Given the description of an element on the screen output the (x, y) to click on. 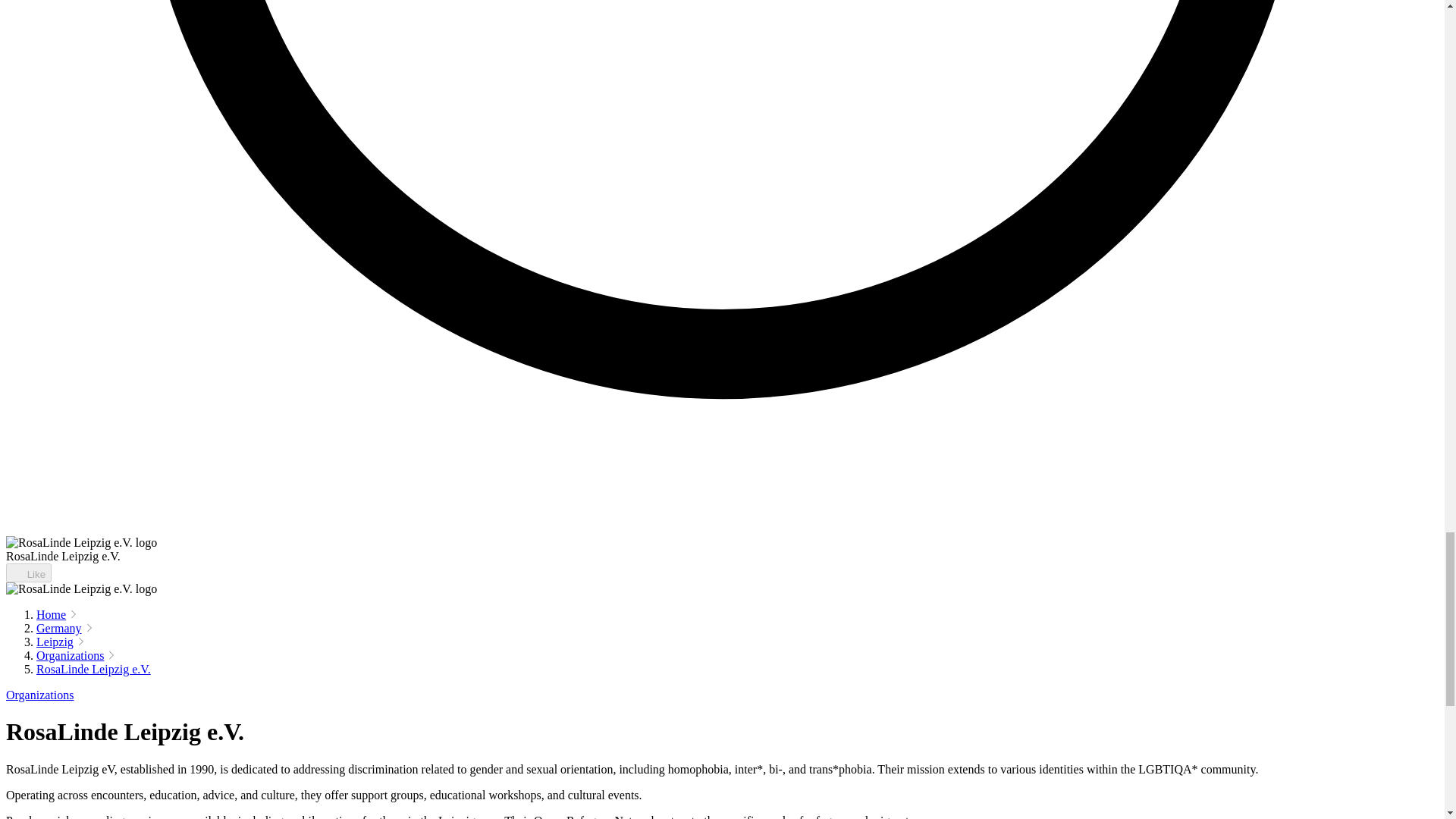
Home (50, 614)
Organizations (69, 655)
Like (27, 572)
RosaLinde Leipzig e.V. (93, 668)
Leipzig (55, 641)
Germany (58, 627)
